Given the description of an element on the screen output the (x, y) to click on. 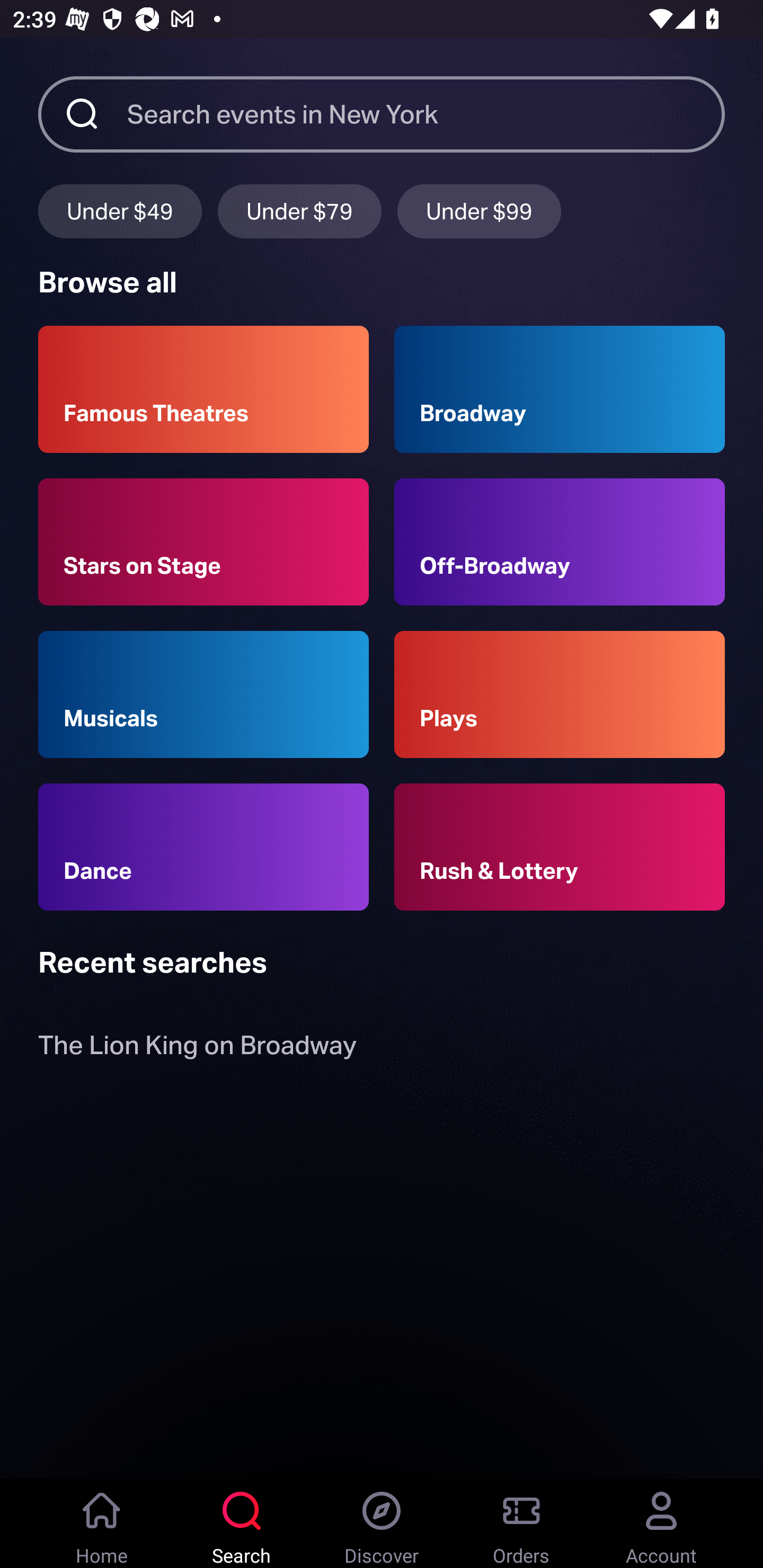
Search events in New York (425, 113)
Under $49 (120, 211)
Under $79 (299, 211)
Under $99 (478, 211)
Famous Theatres (203, 389)
Broadway (559, 389)
Stars on Stage (203, 541)
Off-Broadway (559, 541)
Musicals (203, 693)
Plays (559, 693)
Dance (203, 847)
Rush & Lottery (559, 847)
The Lion King on Broadway (197, 1048)
Home (101, 1523)
Discover (381, 1523)
Orders (521, 1523)
Account (660, 1523)
